Given the description of an element on the screen output the (x, y) to click on. 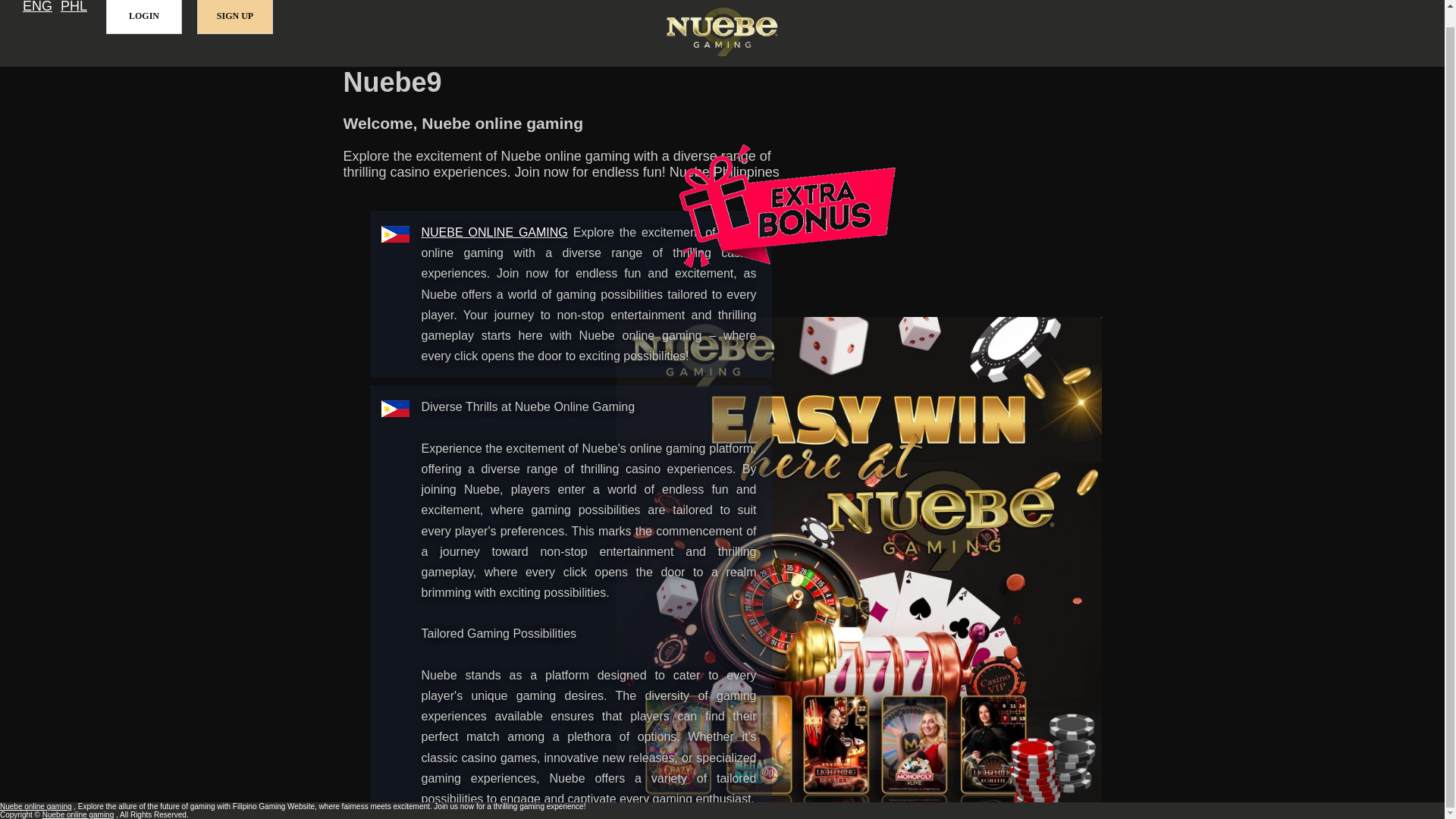
Filipino (74, 7)
English (37, 7)
SIGN UP (234, 17)
Nuebe online gaming Logo (721, 33)
NUEBE ONLINE GAMING (494, 232)
Nuebe online gaming (494, 232)
ENG (37, 7)
Nuebe online gaming (35, 806)
PHL (74, 7)
LOGIN (144, 17)
